Given the description of an element on the screen output the (x, y) to click on. 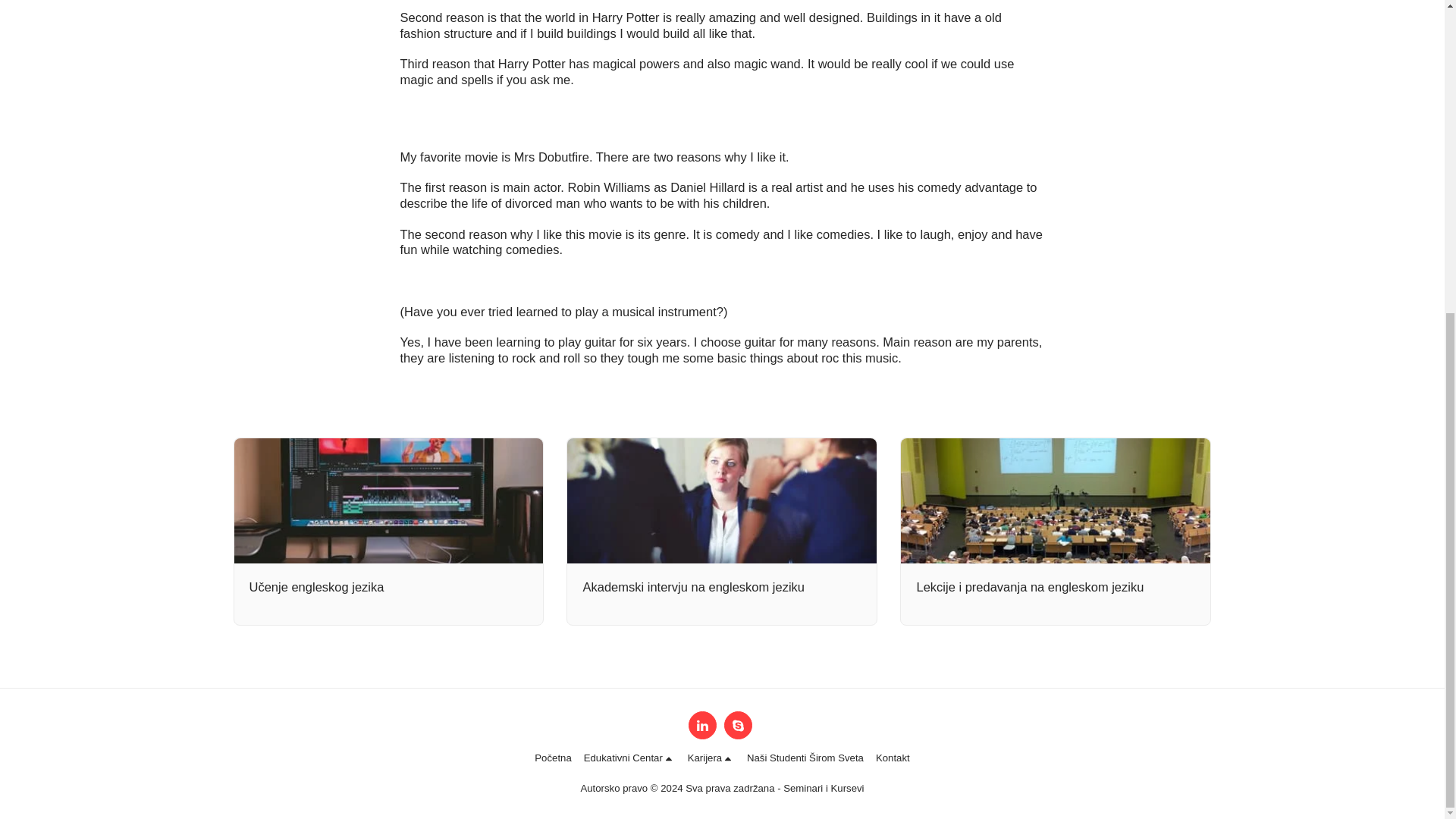
Lekcije i predavanja na engleskom jeziku (1055, 587)
Akademski intervju na engleskom jeziku (721, 587)
Edukativni Centar   (629, 758)
